Given the description of an element on the screen output the (x, y) to click on. 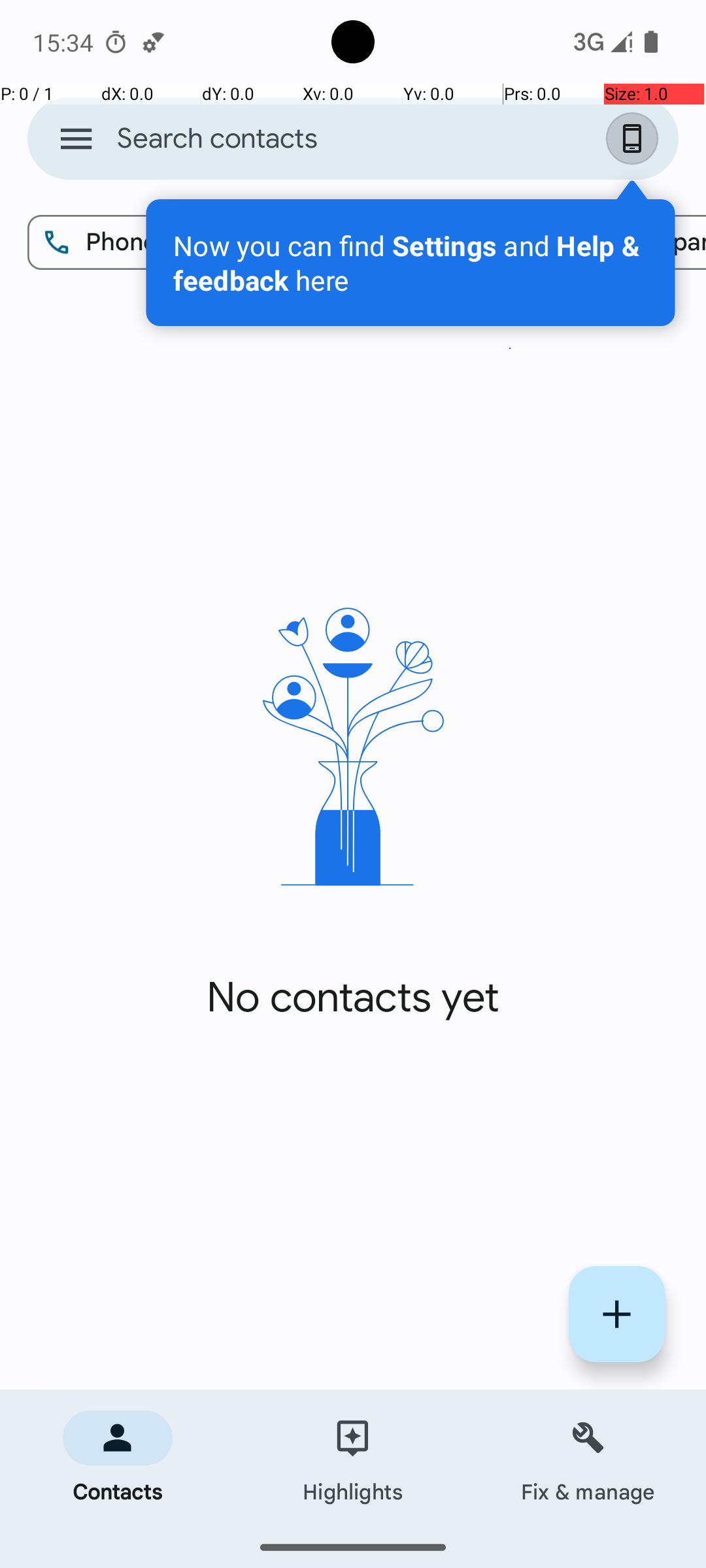
Android System notification: Wi‑Fi will turn on automatically Element type: android.widget.ImageView (153, 41)
